Given the description of an element on the screen output the (x, y) to click on. 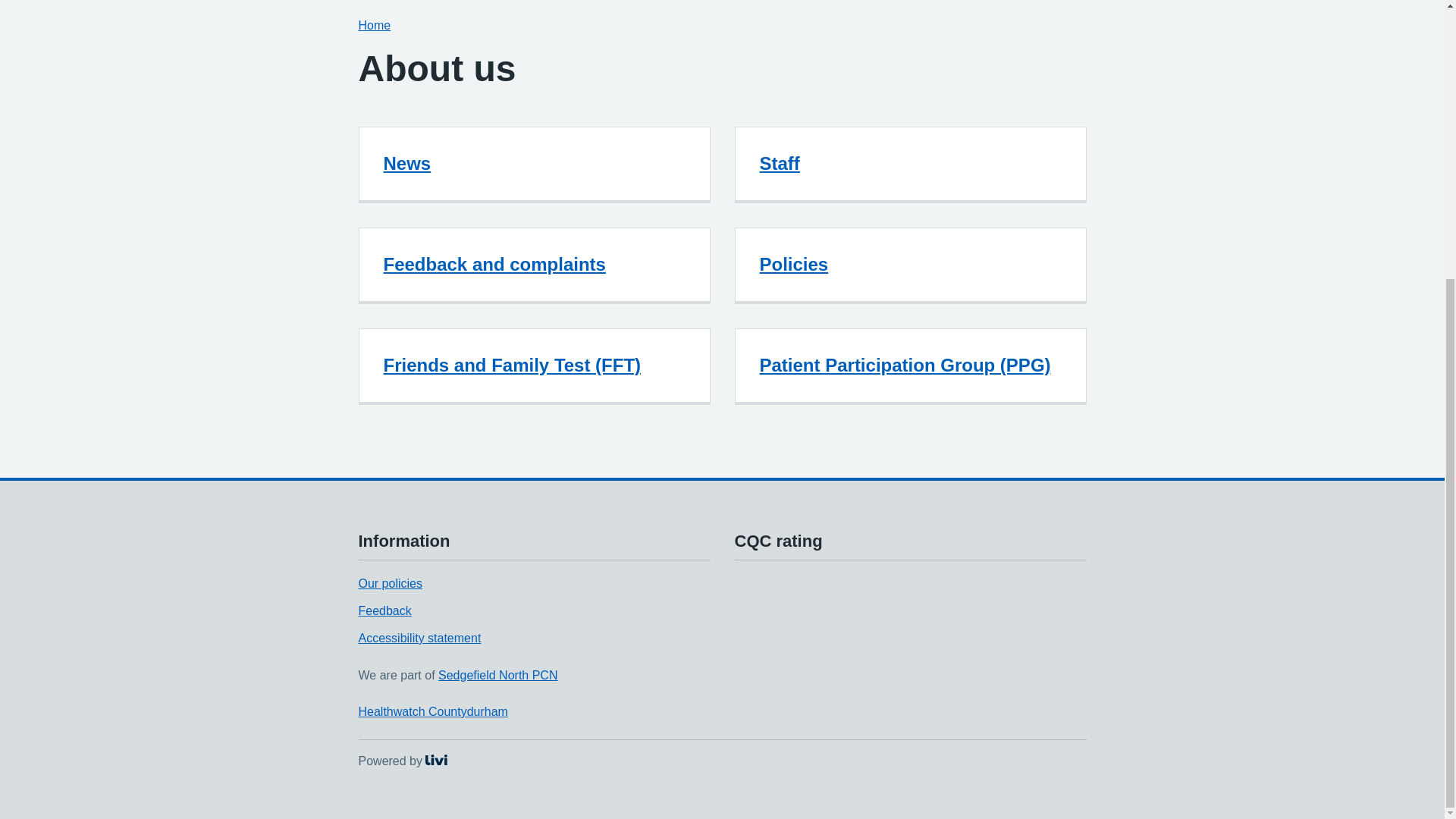
Sedgefield North PCN (497, 675)
News (402, 760)
Accessibility statement (407, 163)
Staff (419, 637)
Feedback and complaints (779, 163)
Policies (494, 263)
Our policies (794, 263)
Healthwatch Countydurham (390, 583)
Feedback (432, 711)
Home (384, 610)
